Given the description of an element on the screen output the (x, y) to click on. 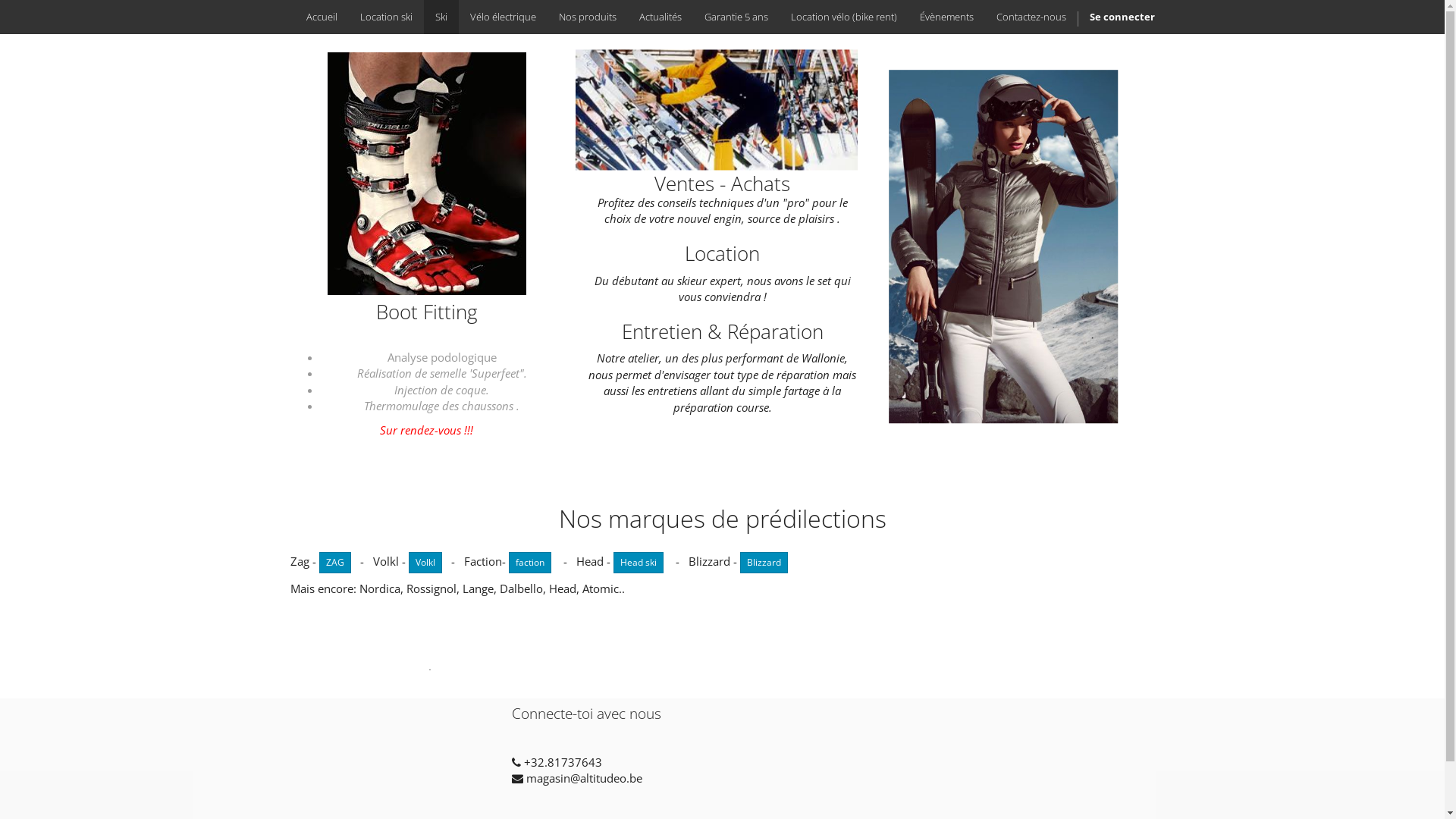
Se connecter Element type: text (1122, 17)
Nos produits Element type: text (587, 17)
faction Element type: text (529, 562)
Contactez-nous Element type: text (1030, 17)
  Element type: text (512, 737)
Garantie 5 ans Element type: text (736, 17)
Accueil Element type: text (321, 17)
ZAG Element type: text (334, 562)
Blizzard Element type: text (763, 562)
Volkl Element type: text (424, 562)
Head ski Element type: text (637, 562)
Ski Element type: text (440, 17)
Location ski Element type: text (385, 17)
